Given the description of an element on the screen output the (x, y) to click on. 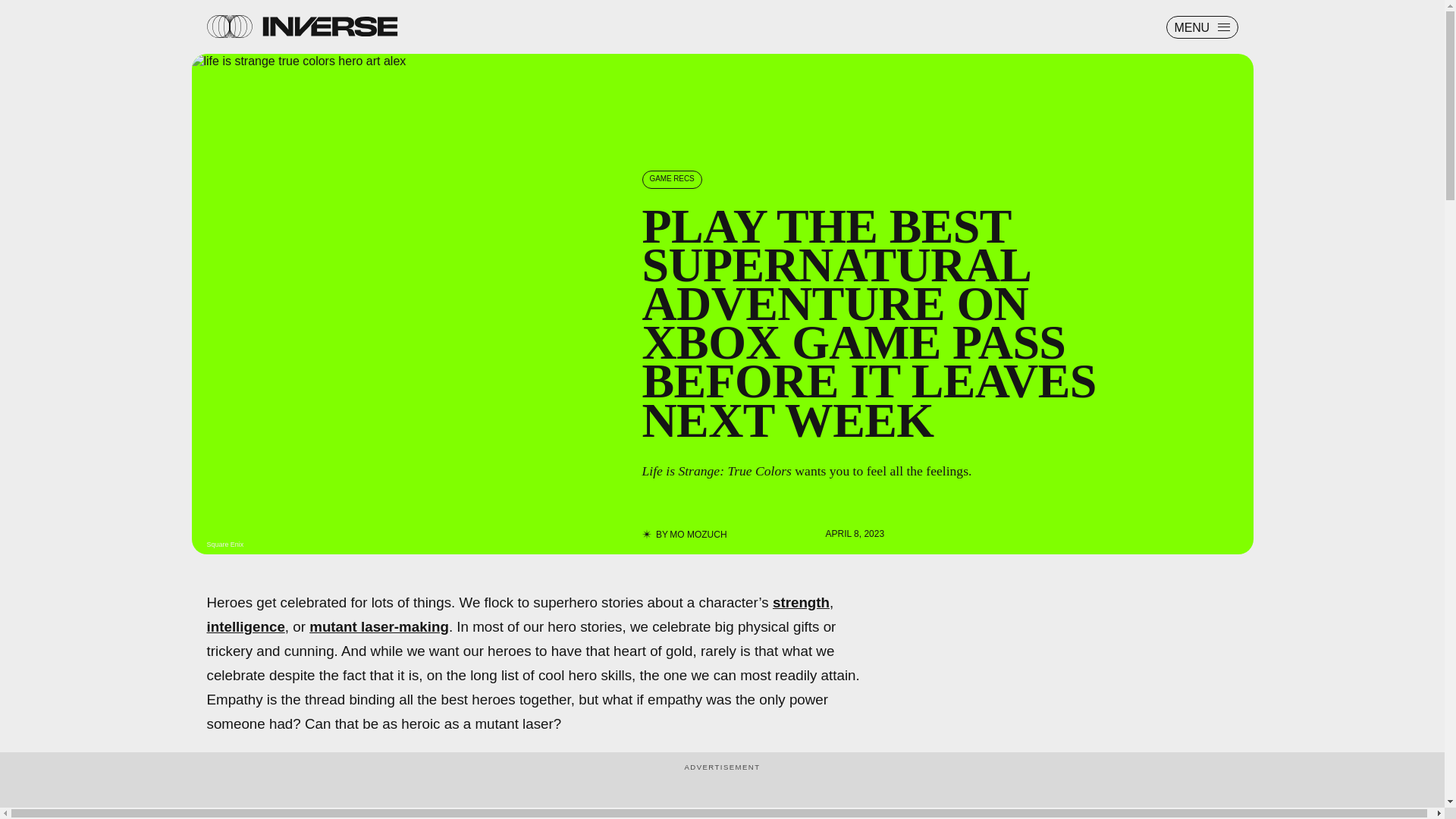
strength (801, 602)
mutant laser-making (378, 626)
intelligence (244, 626)
MO MOZUCH (697, 533)
Inverse (328, 26)
